Given the description of an element on the screen output the (x, y) to click on. 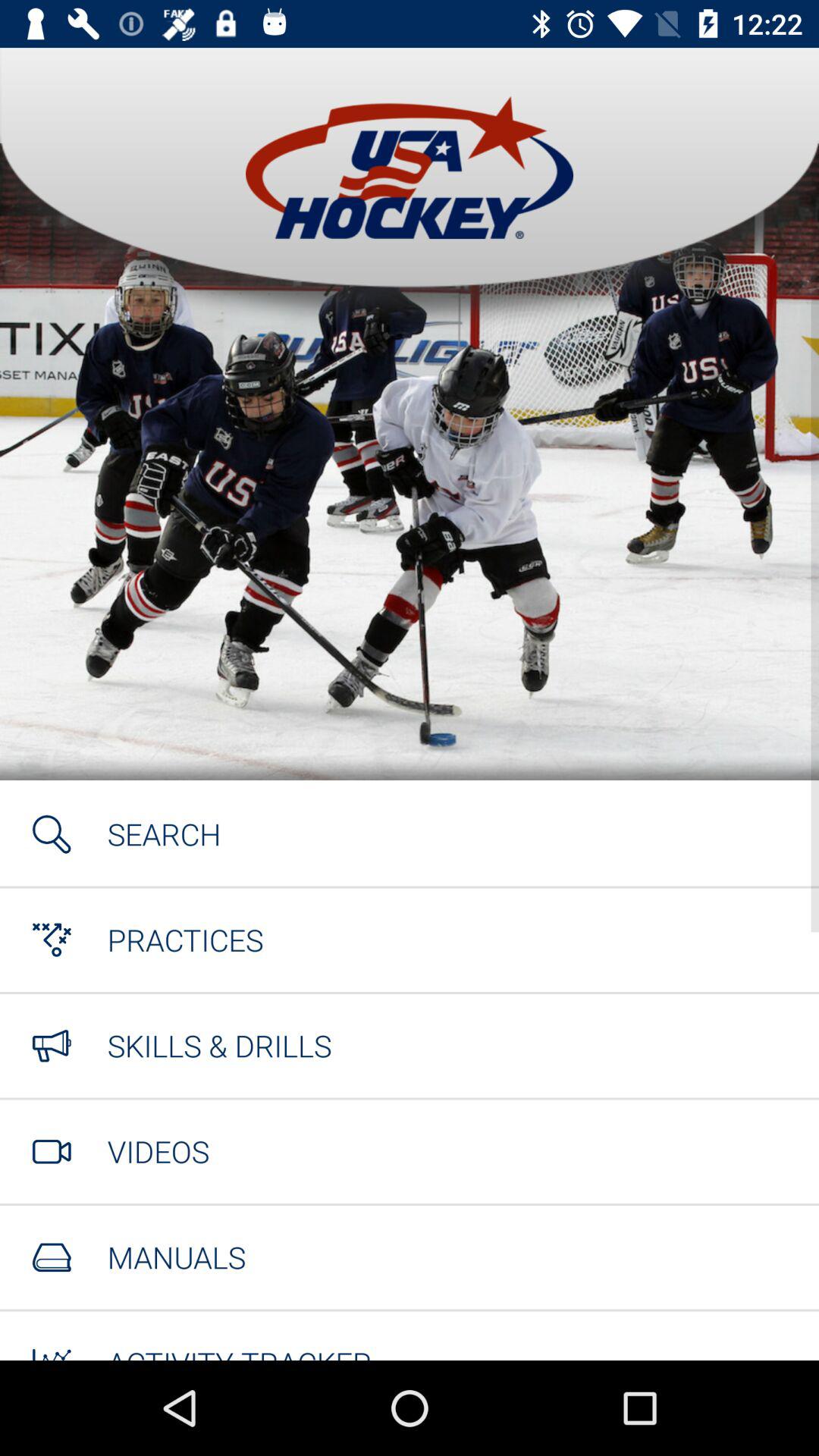
select item below manuals item (239, 1351)
